Given the description of an element on the screen output the (x, y) to click on. 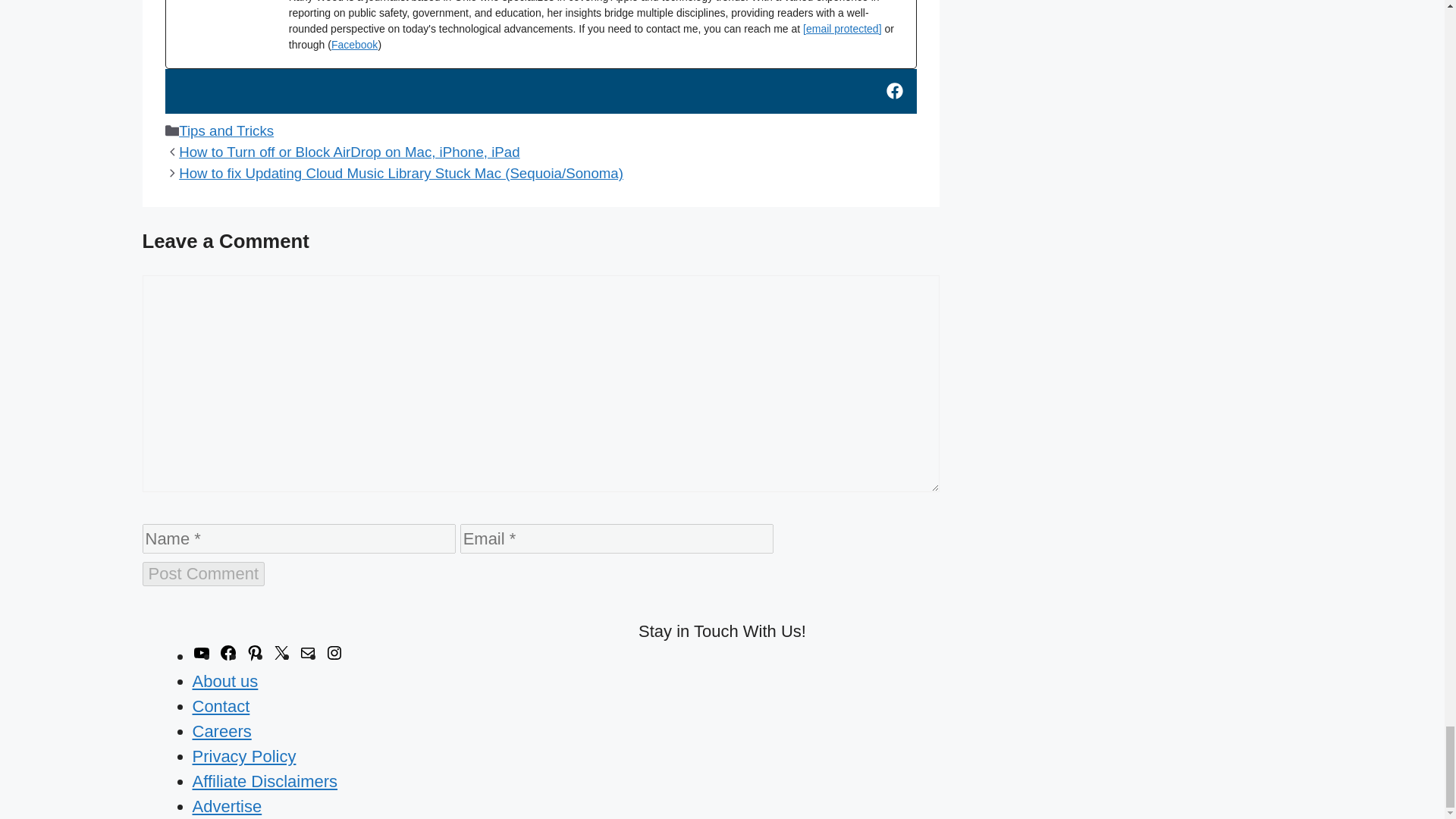
Post Comment (203, 573)
